Given the description of an element on the screen output the (x, y) to click on. 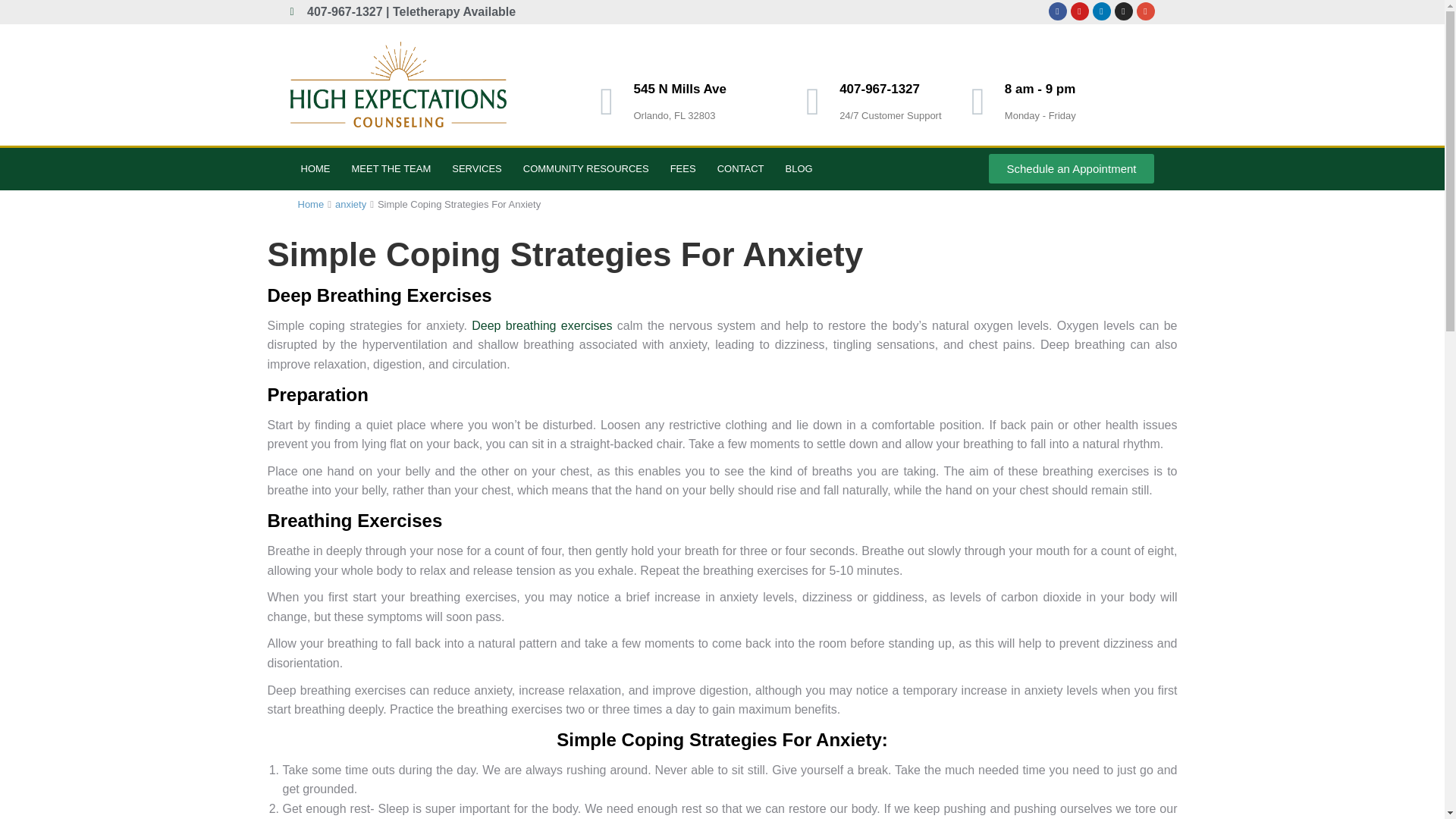
407-967-1327 (880, 88)
SERVICES (476, 169)
HOME (314, 169)
Counseling Services (476, 169)
545 N Mills Ave (679, 88)
MEET THE TEAM (391, 169)
